Given the description of an element on the screen output the (x, y) to click on. 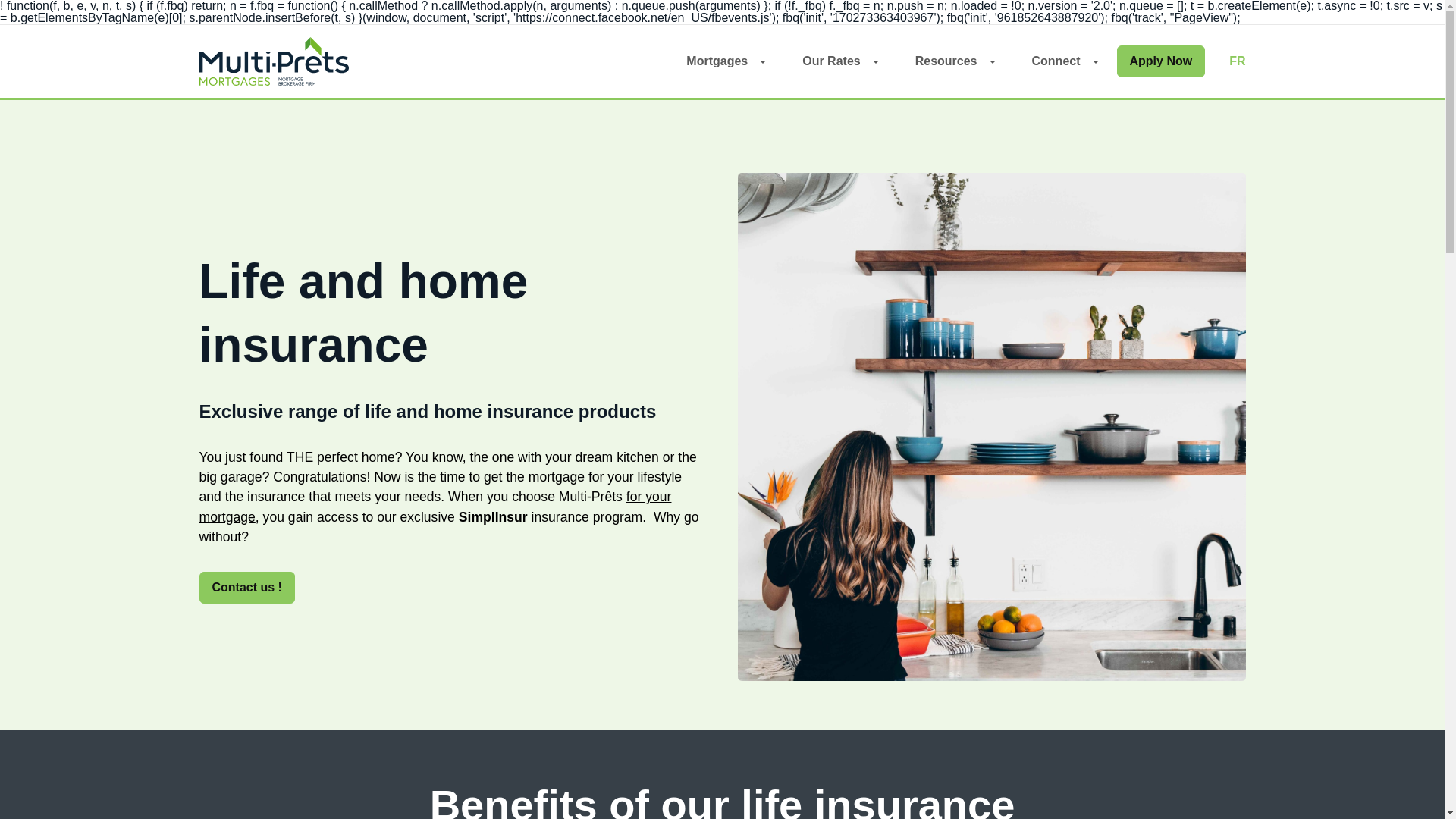
Apply Now (1160, 60)
FR (1236, 61)
for your mortgage (434, 506)
Resources (954, 61)
Contact us ! (246, 587)
Mortgages (725, 61)
Contact us ! (246, 587)
Our Rates (839, 61)
Connect (1064, 61)
